Given the description of an element on the screen output the (x, y) to click on. 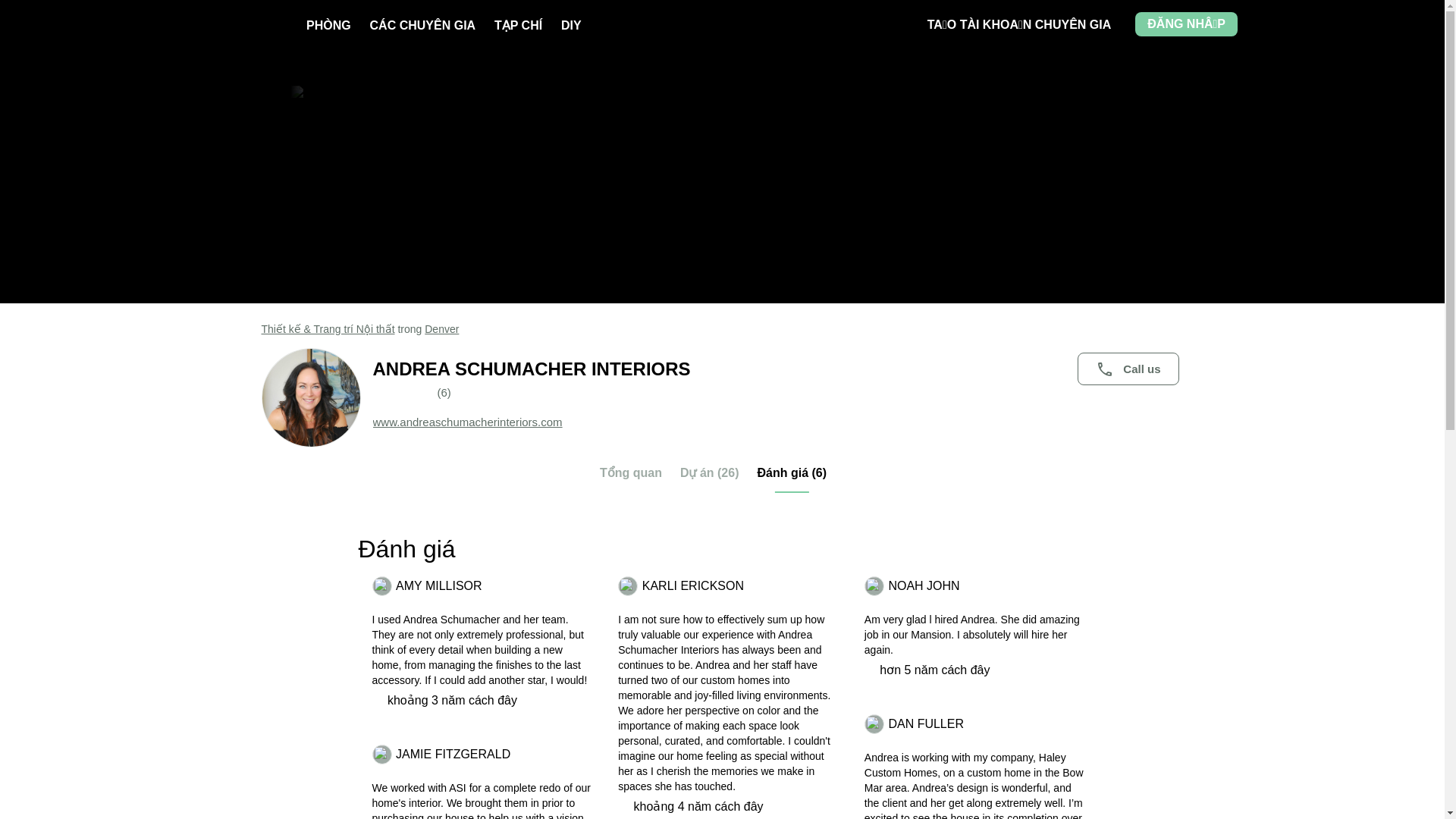
DIY (570, 25)
Denver (441, 328)
ANDREA SCHUMACHER INTERIORS (777, 368)
Call us (1127, 368)
www.andreaschumacherinteriors.com (467, 421)
